Given the description of an element on the screen output the (x, y) to click on. 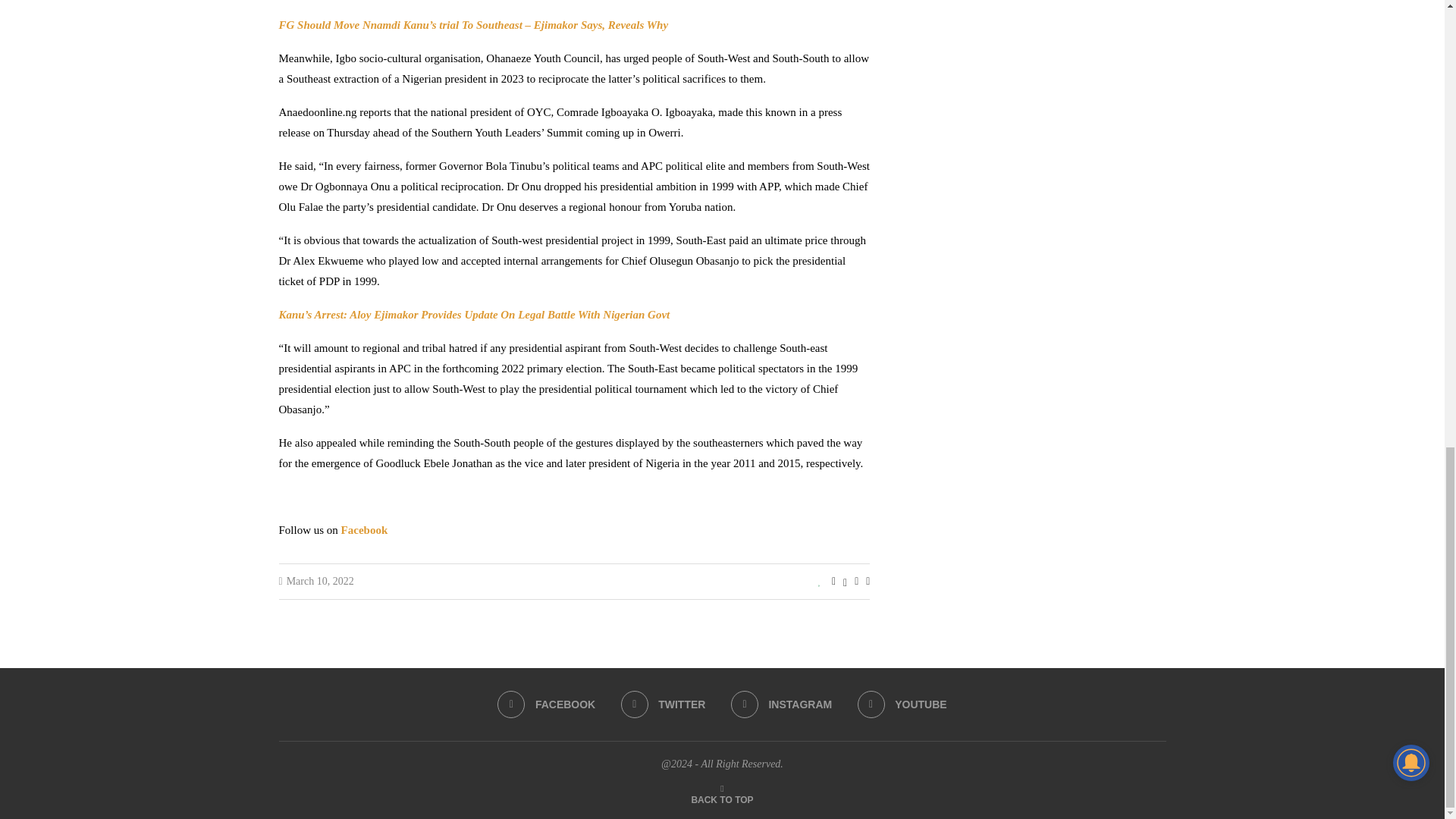
Unlike (820, 581)
